Given the description of an element on the screen output the (x, y) to click on. 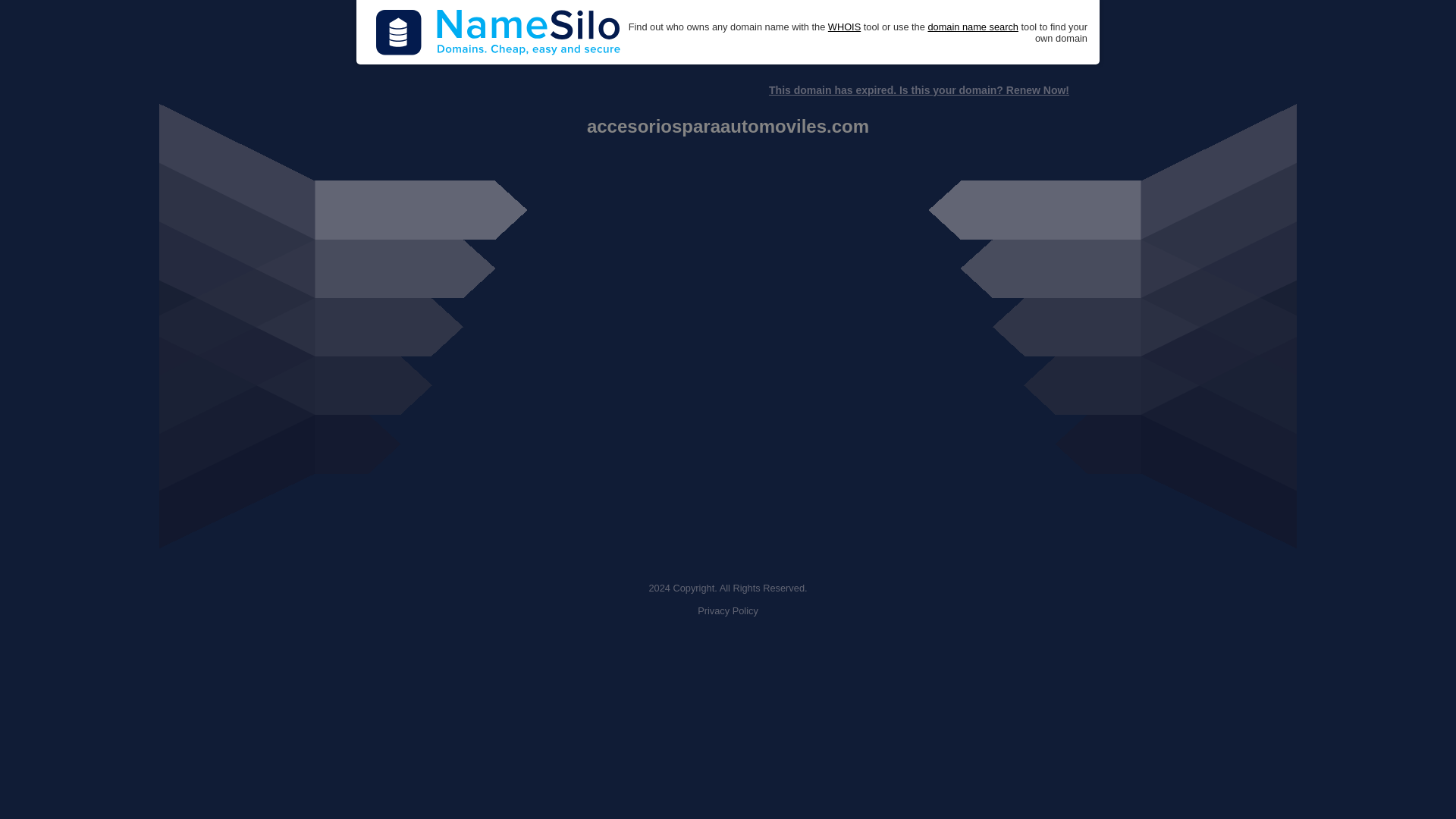
domain name search (972, 26)
Privacy Policy (727, 610)
WHOIS (844, 26)
This domain has expired. Is this your domain? Renew Now! (918, 90)
